Given the description of an element on the screen output the (x, y) to click on. 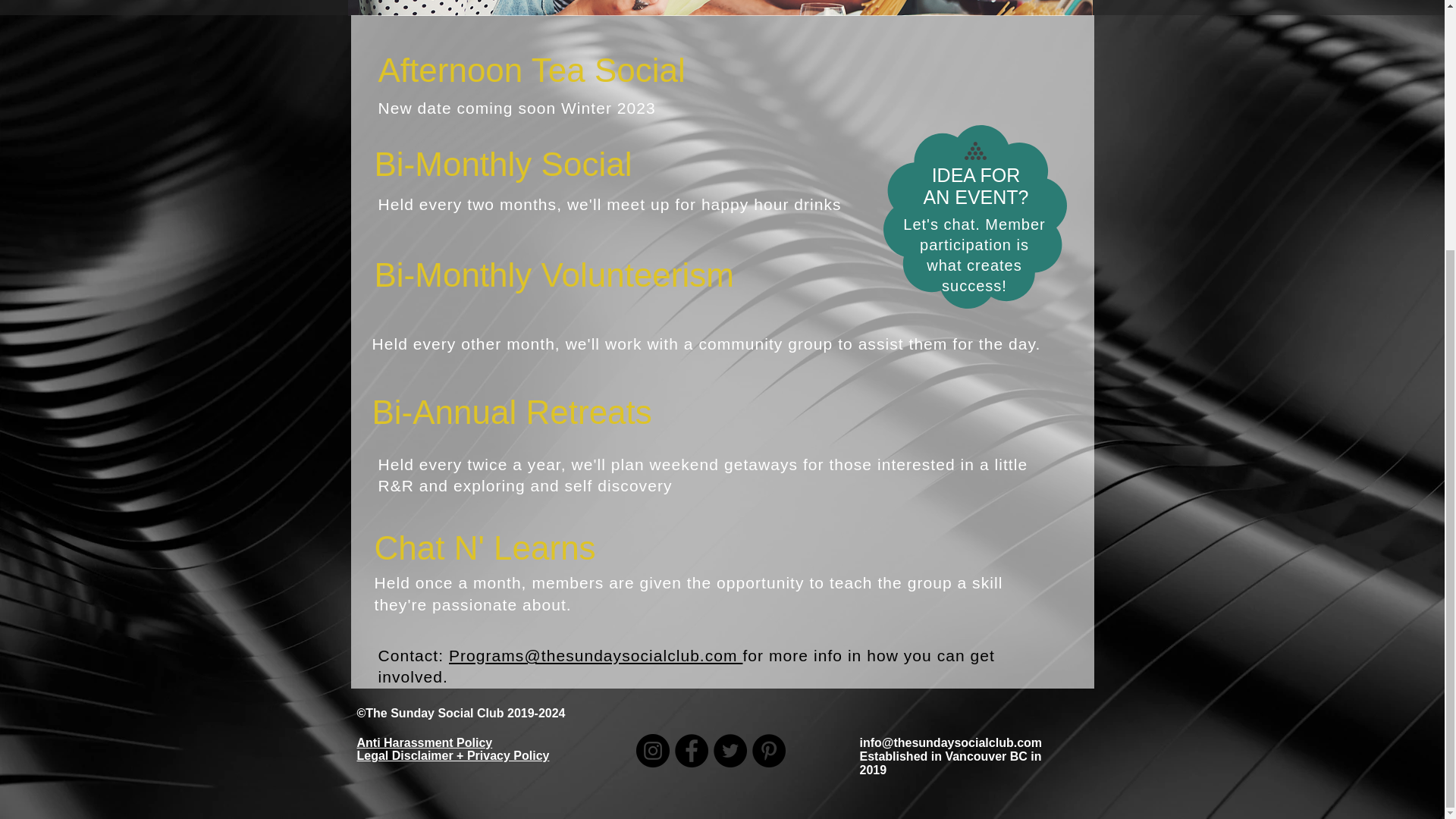
Anti Harassment Policy (424, 742)
